Given the description of an element on the screen output the (x, y) to click on. 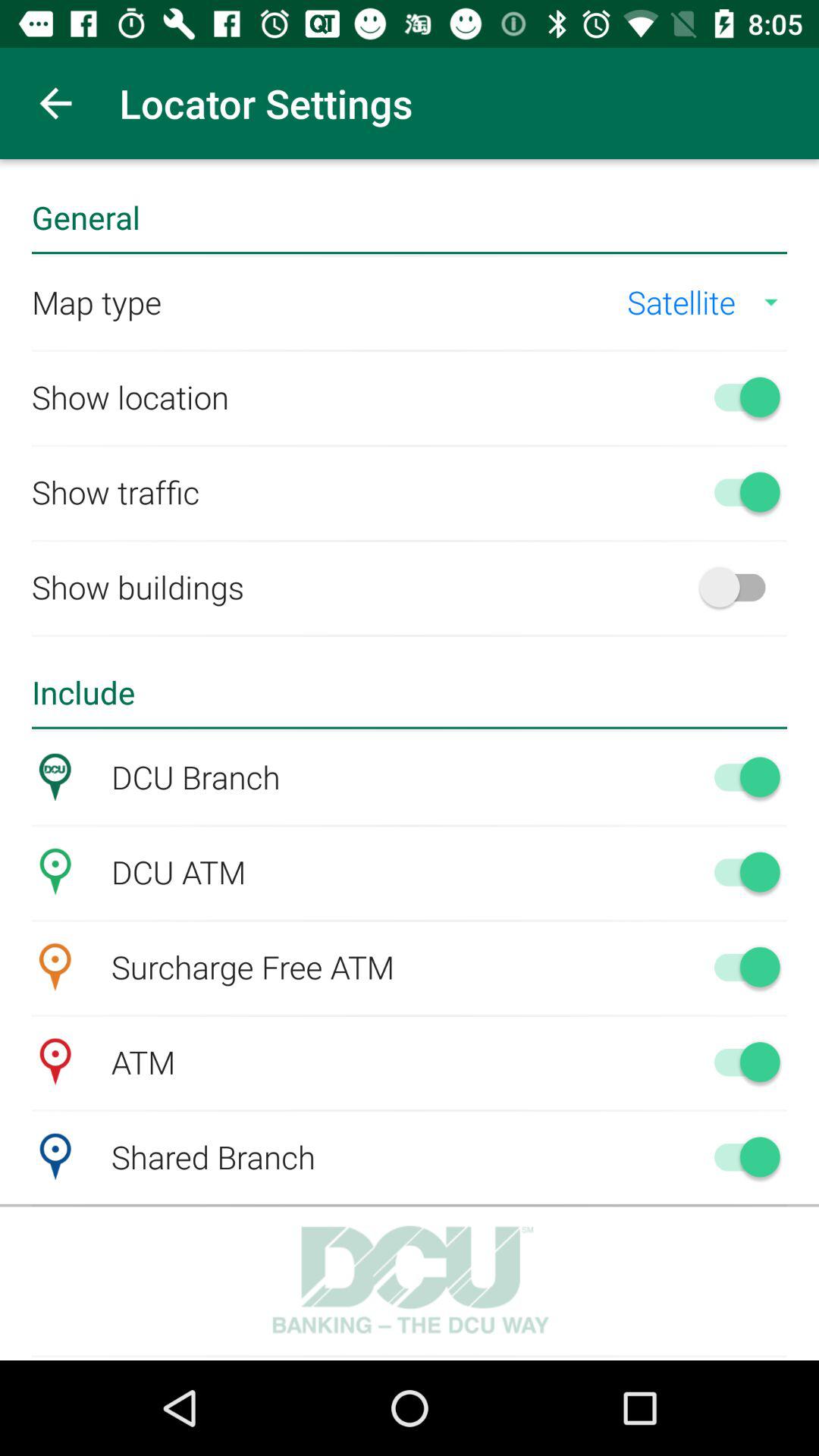
toggle show location (739, 396)
